Given the description of an element on the screen output the (x, y) to click on. 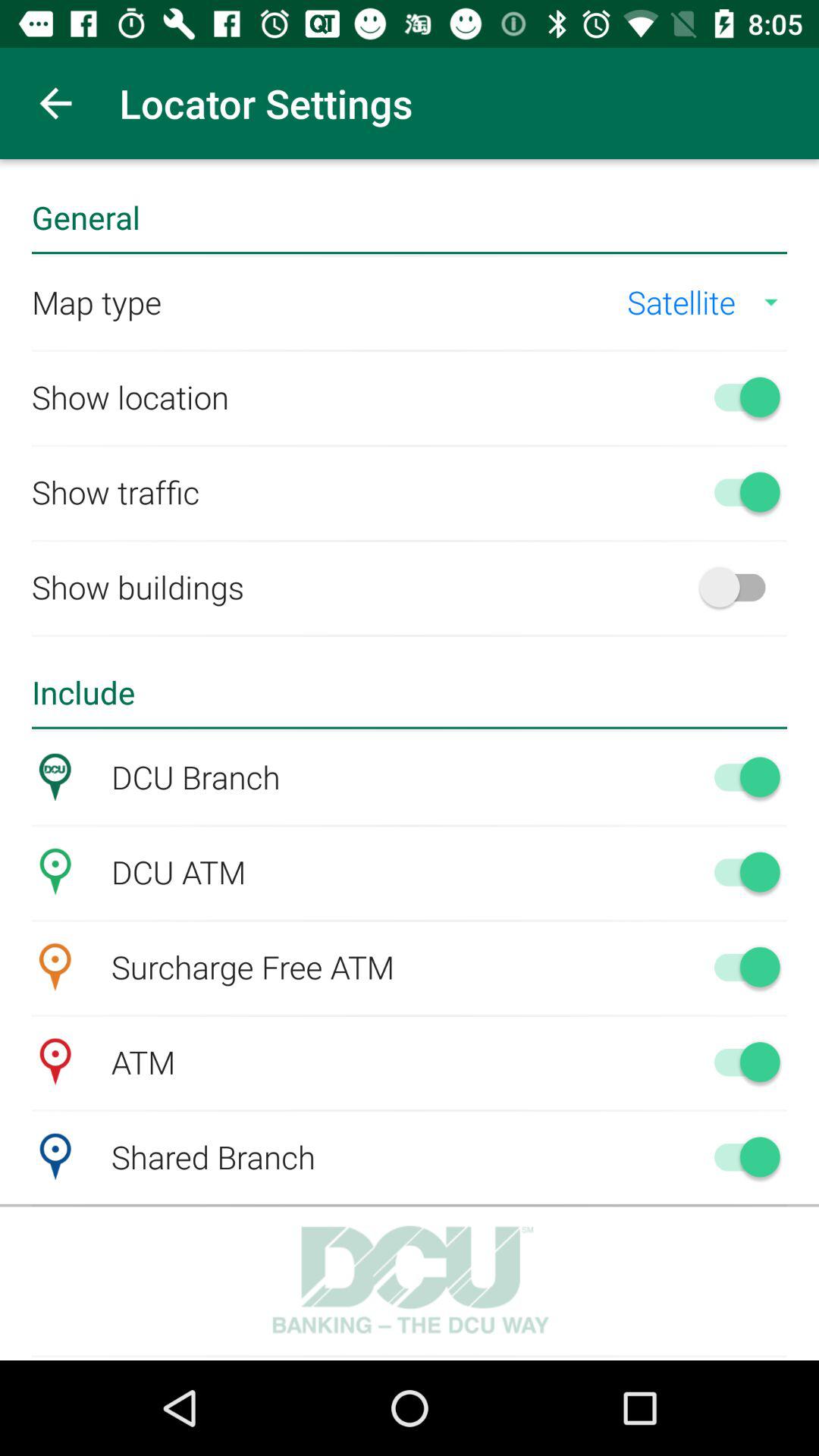
toggle show location (739, 396)
